Given the description of an element on the screen output the (x, y) to click on. 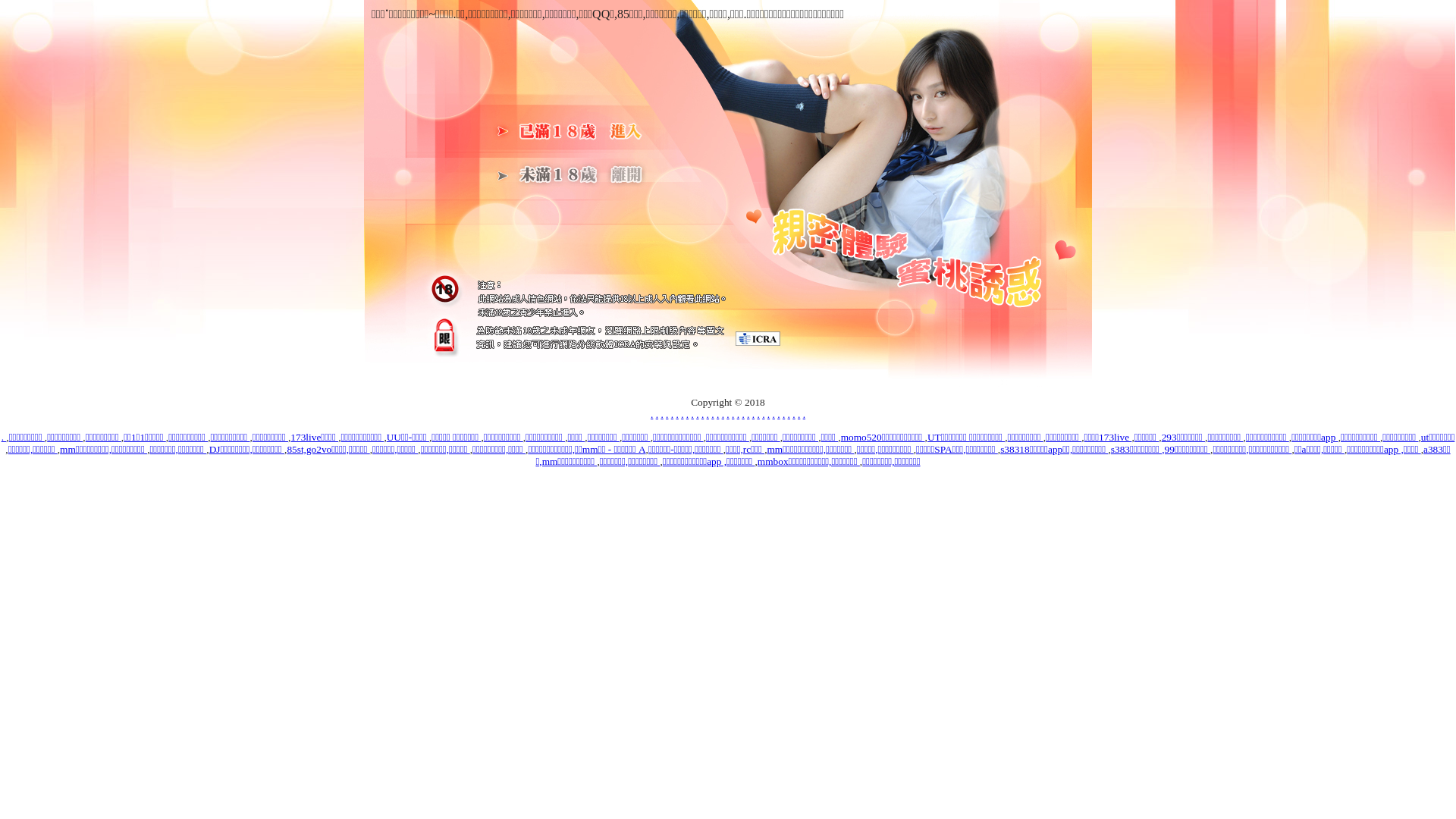
. Element type: text (783, 414)
. Element type: text (732, 414)
. Element type: text (773, 414)
. Element type: text (798, 414)
. Element type: text (788, 414)
. Element type: text (804, 414)
. Element type: text (676, 414)
. Element type: text (697, 414)
. Element type: text (3, 436)
. Element type: text (727, 414)
. Element type: text (722, 414)
. Element type: text (712, 414)
. Element type: text (681, 414)
. Element type: text (656, 414)
. Element type: text (651, 414)
. Element type: text (757, 414)
. Element type: text (742, 414)
. Element type: text (793, 414)
. Element type: text (692, 414)
. Element type: text (763, 414)
. Element type: text (753, 414)
. Element type: text (661, 414)
. Element type: text (778, 414)
. Element type: text (768, 414)
. Element type: text (717, 414)
. Element type: text (687, 414)
. Element type: text (672, 414)
. Element type: text (738, 414)
. Element type: text (707, 414)
. Element type: text (702, 414)
. Element type: text (666, 414)
. Element type: text (747, 414)
